Given the description of an element on the screen output the (x, y) to click on. 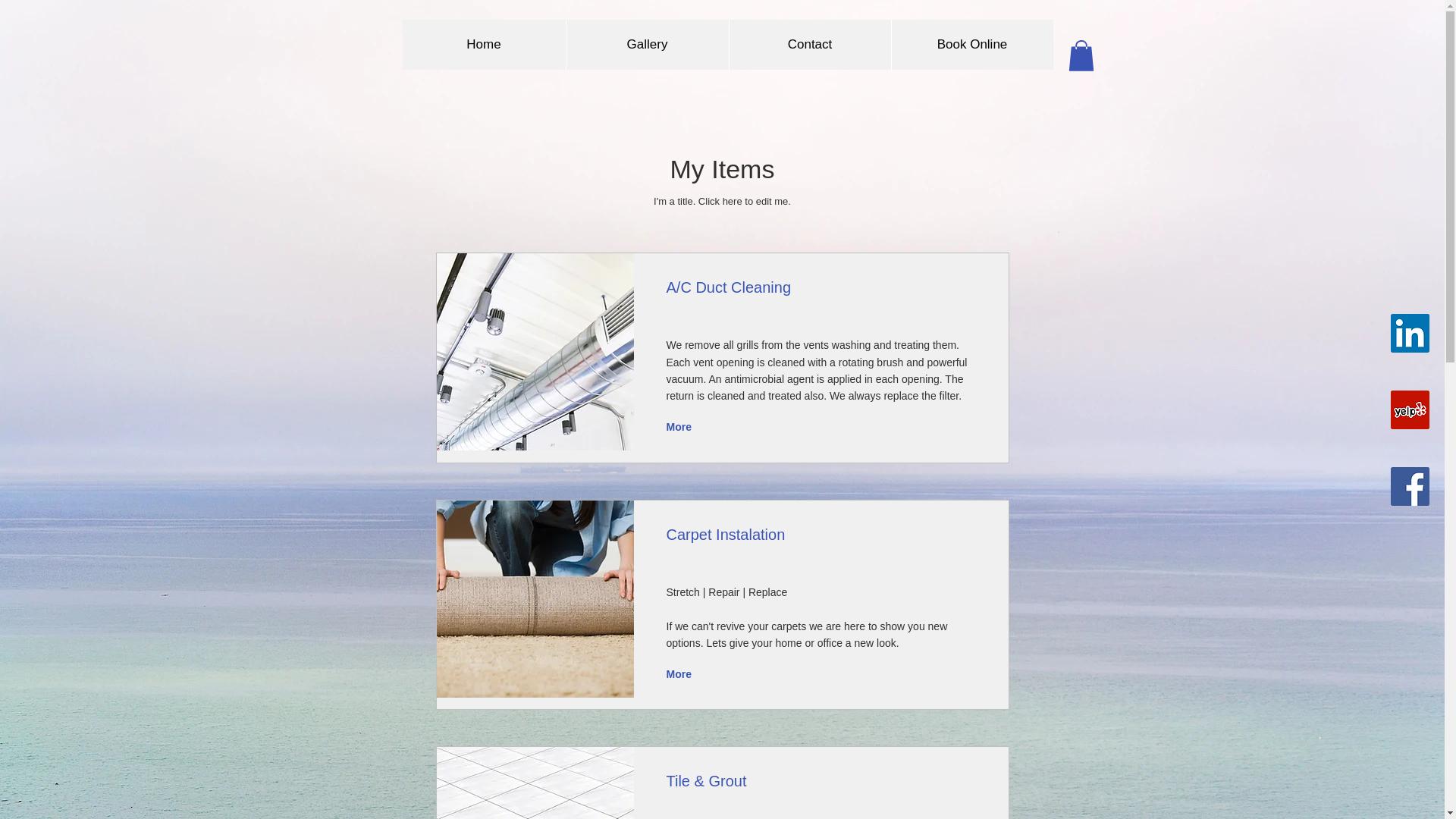
Contact (808, 44)
Carpet Instalation (534, 598)
Home (482, 44)
Gallery (647, 44)
More (680, 673)
More (680, 427)
Book Online (970, 44)
